Given the description of an element on the screen output the (x, y) to click on. 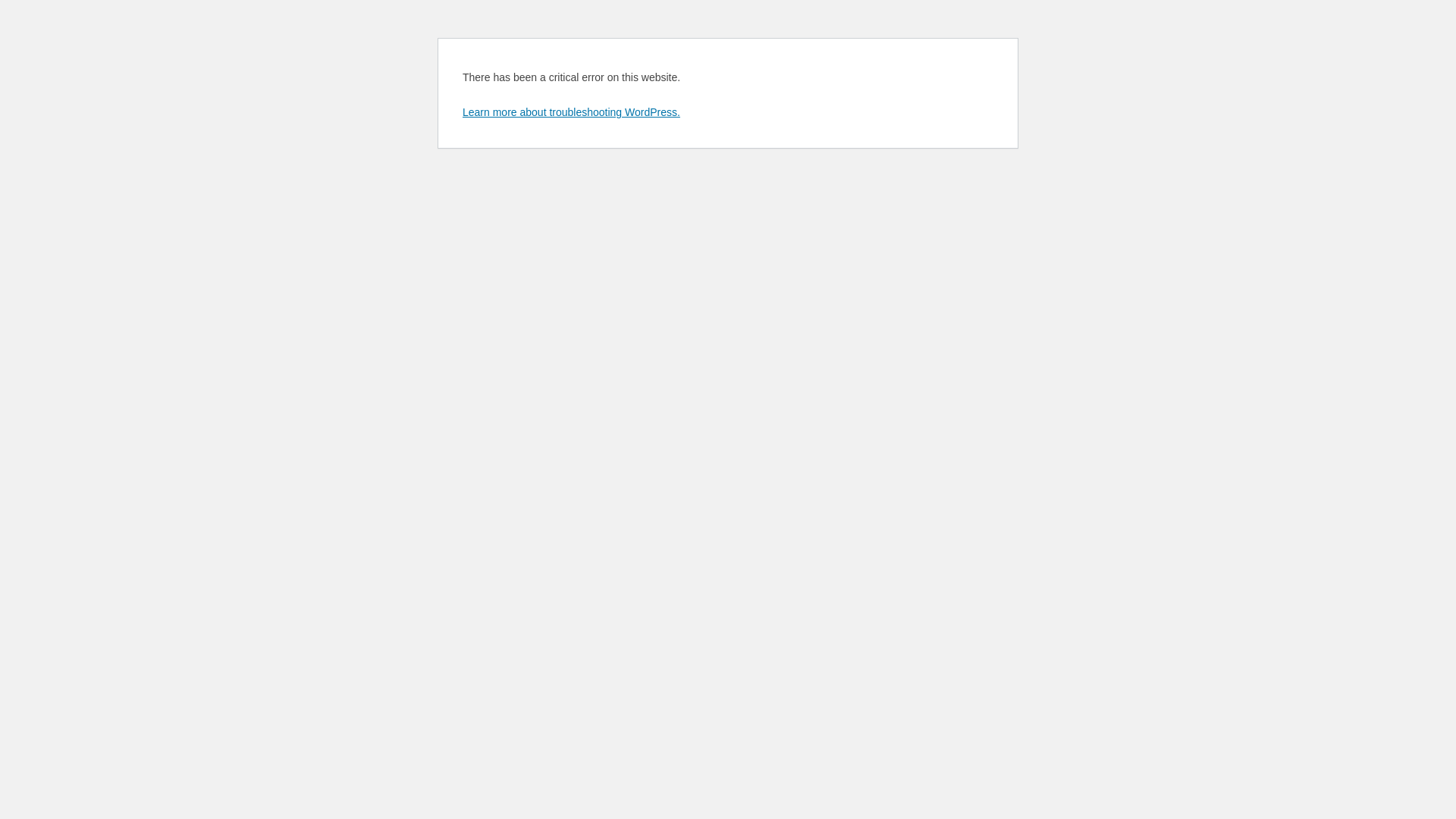
Learn more about troubleshooting WordPress. Element type: text (571, 112)
